Given the description of an element on the screen output the (x, y) to click on. 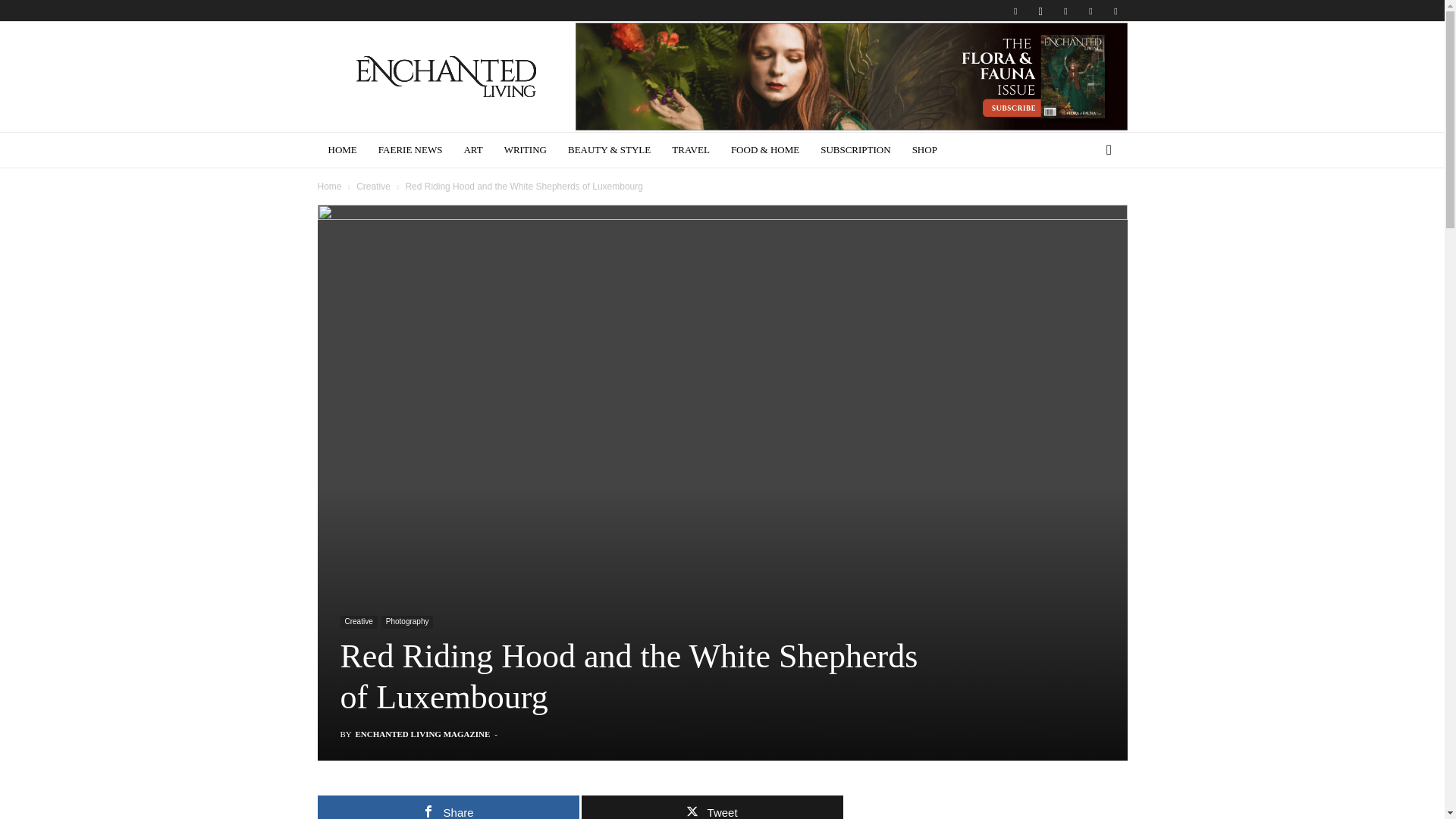
Instagram (1040, 10)
Facebook (1015, 10)
Twitter (1114, 10)
Pinterest (1065, 10)
Celebrate All Things Enchanted (445, 76)
Tumblr (1090, 10)
